Given the description of an element on the screen output the (x, y) to click on. 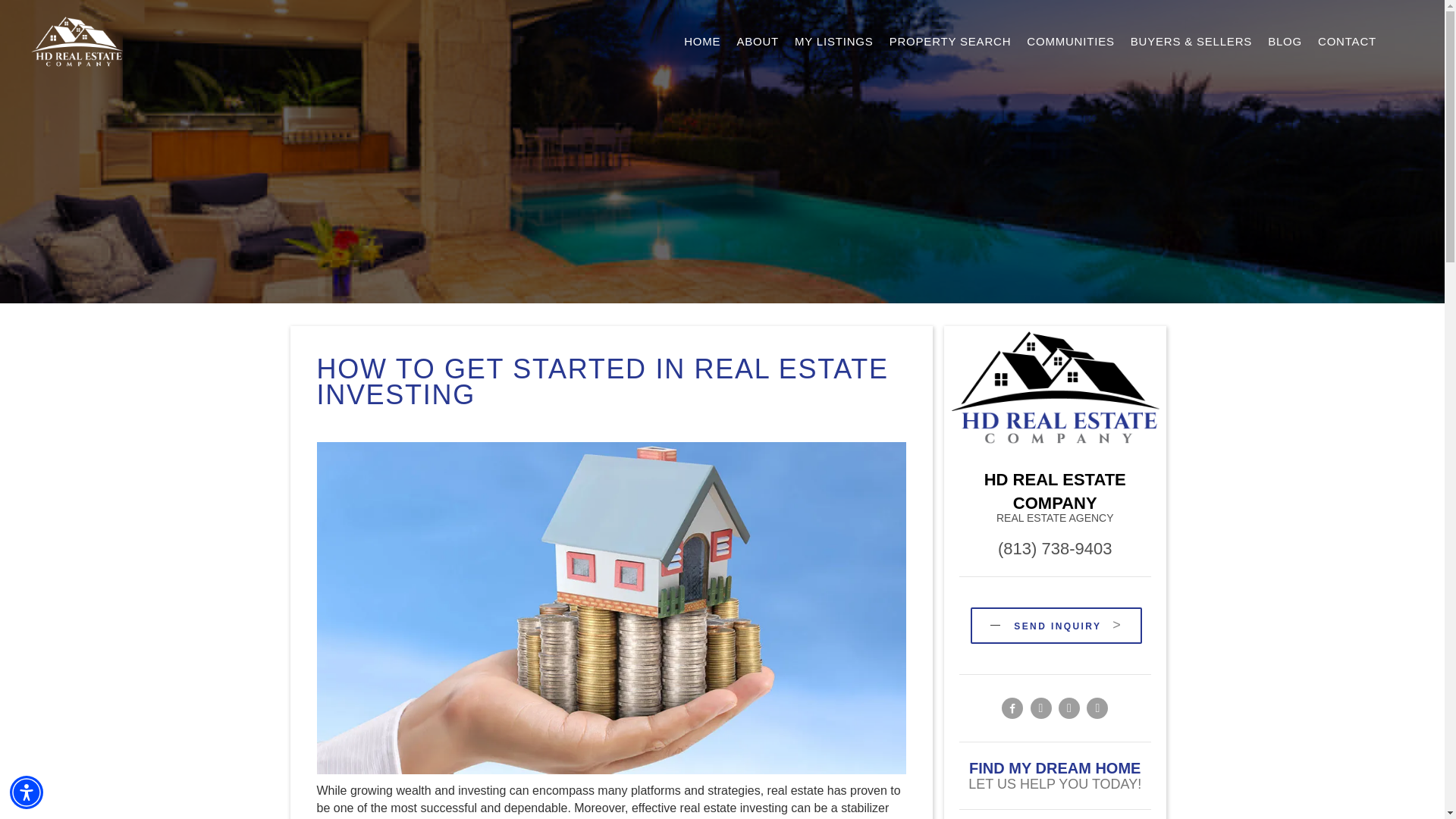
HOME (702, 41)
ABOUT (757, 41)
MY LISTINGS (833, 41)
Accessibility Menu (26, 792)
CONTACT (1347, 41)
BLOG (1284, 41)
FIND MY DREAM HOME (1054, 768)
PROPERTY SEARCH (950, 41)
HD-REALESTATE-Logo-color (1054, 389)
COMMUNITIES (1070, 41)
